Given the description of an element on the screen output the (x, y) to click on. 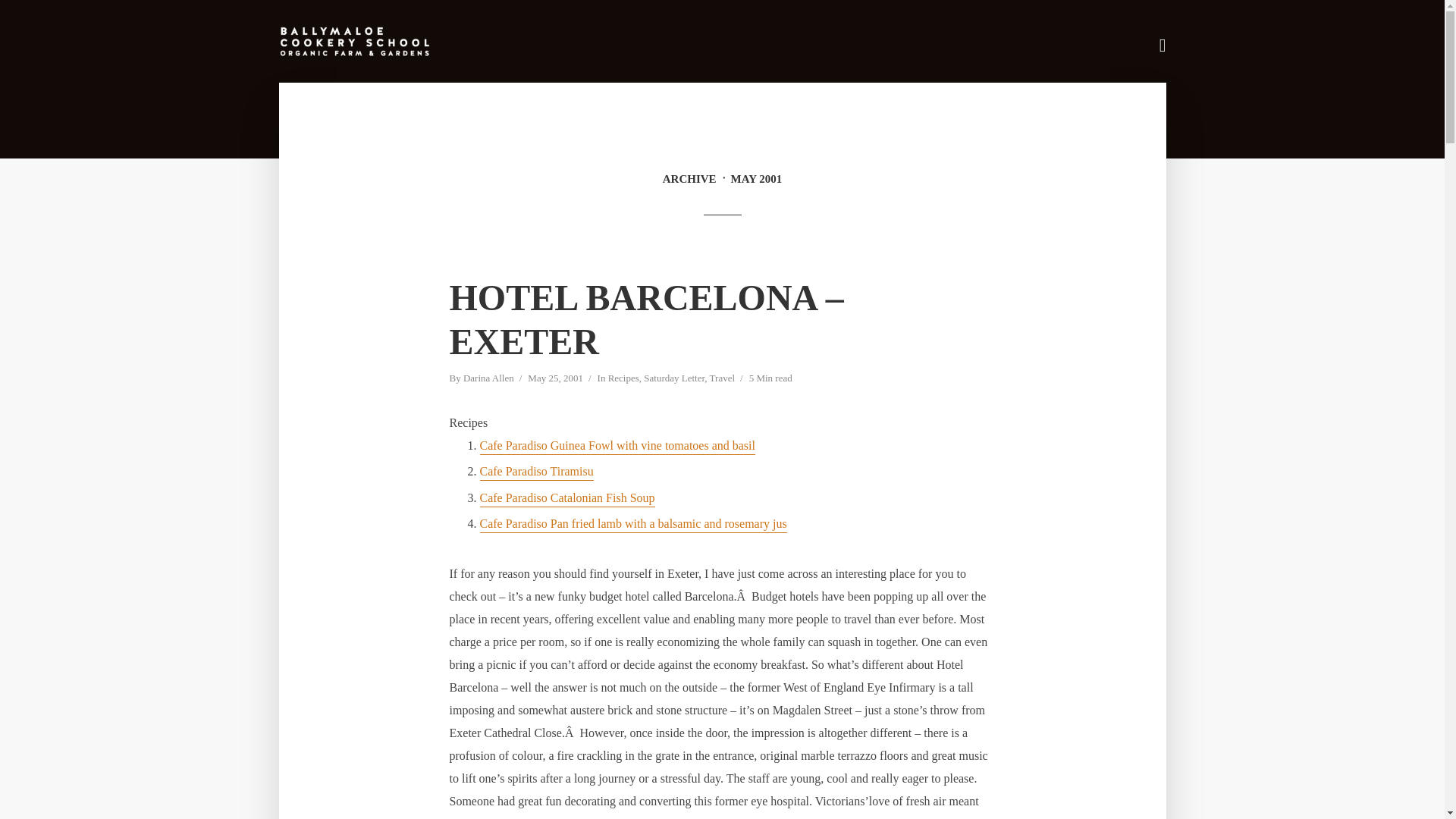
Cafe Paradiso Tiramisu (535, 472)
Cafe Paradiso Catalonian Fish Soup (566, 498)
Saturday Letter (673, 379)
Cafe Paradiso Guinea Fowl with vine tomatoes and basil (616, 446)
Recipes (623, 379)
Travel (722, 379)
Darina Allen (488, 379)
